Given the description of an element on the screen output the (x, y) to click on. 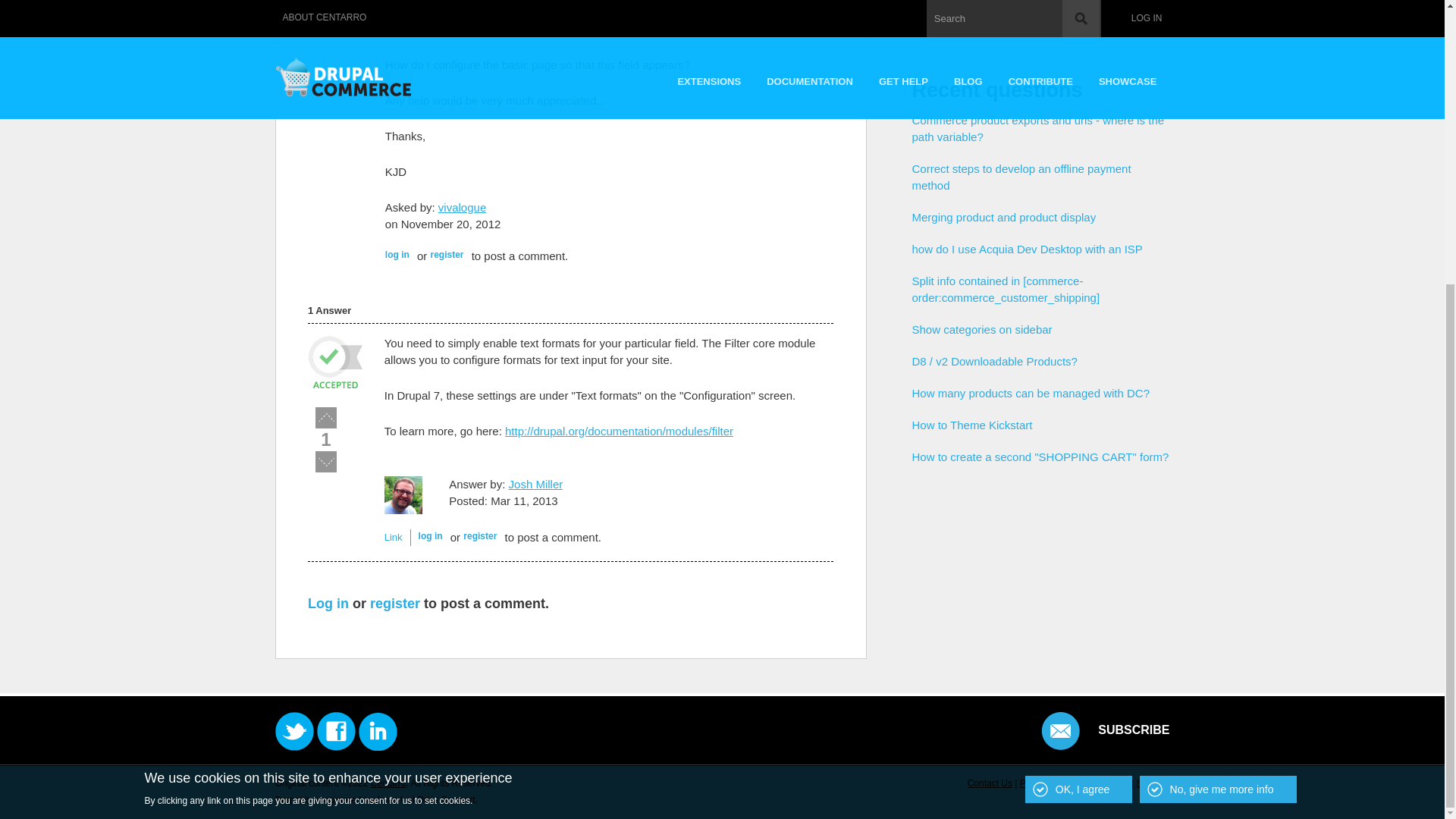
log in (397, 254)
log in (430, 535)
Josh Miller (535, 483)
vivalogue (462, 206)
View user profile. (462, 206)
register (479, 535)
Link (393, 536)
register (446, 254)
register (394, 603)
Log in (328, 603)
